Given the description of an element on the screen output the (x, y) to click on. 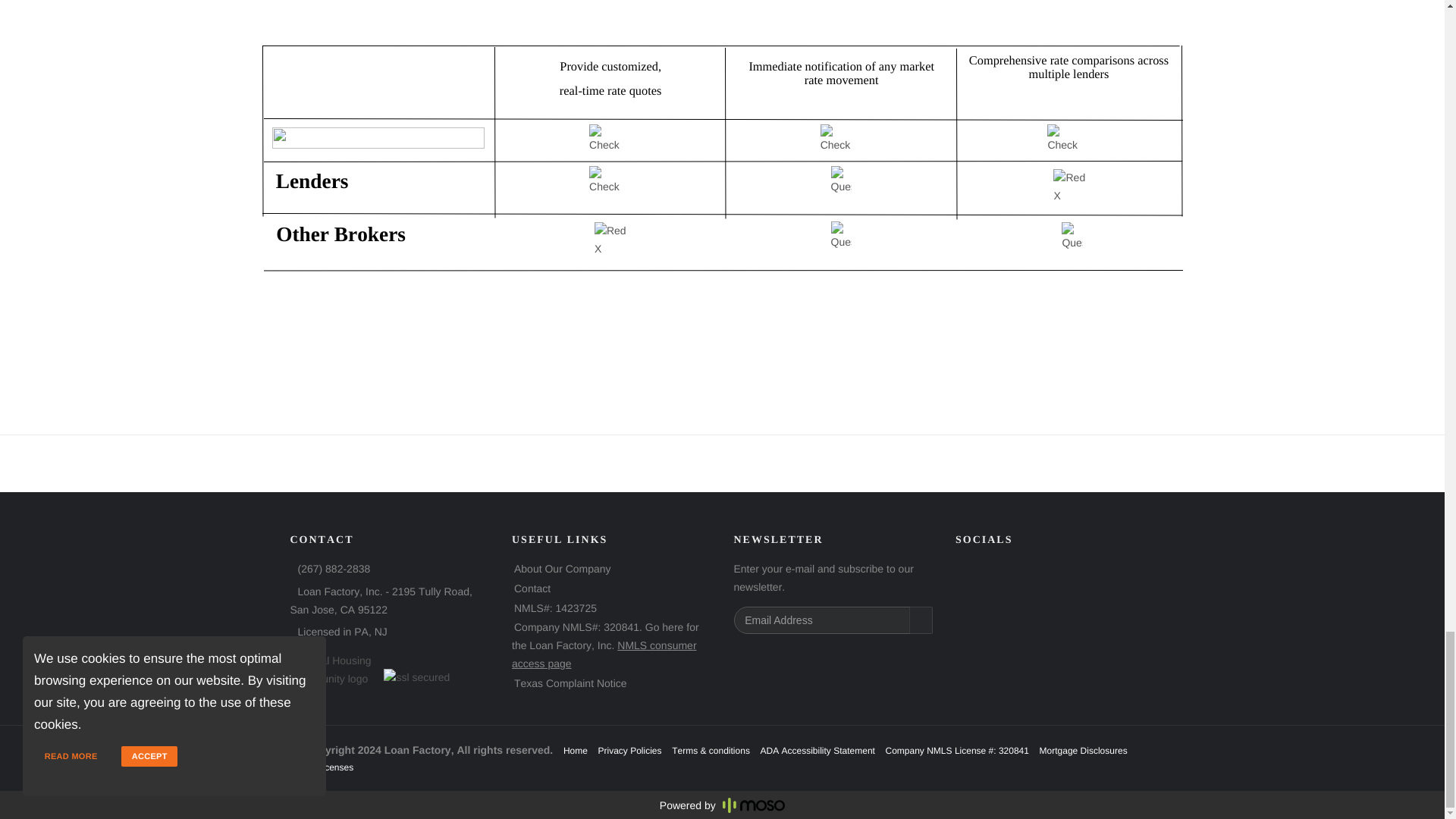
ADA Accessibility Statement (817, 750)
State Licenses (323, 767)
Texas Complaint Notice (570, 683)
Mortgage Disclosures (1082, 750)
Home (575, 750)
Privacy Policies (630, 750)
About Our Company (562, 568)
Contact (531, 588)
